Given the description of an element on the screen output the (x, y) to click on. 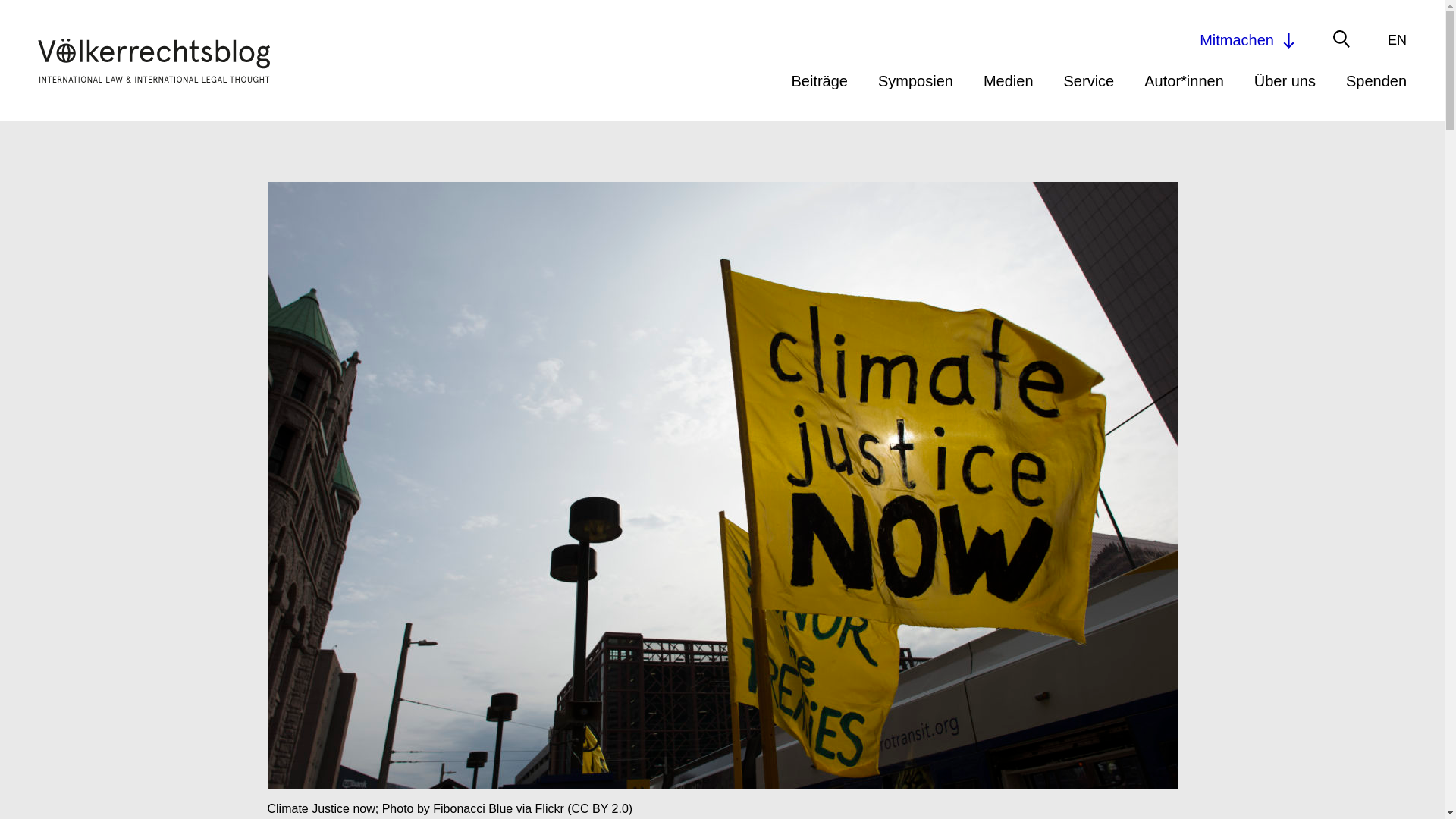
Mitmachen (1248, 39)
EN (1396, 39)
Spenden (1375, 80)
search (1027, 42)
Service (1089, 80)
Symposien (915, 80)
Medien (1008, 80)
